Given the description of an element on the screen output the (x, y) to click on. 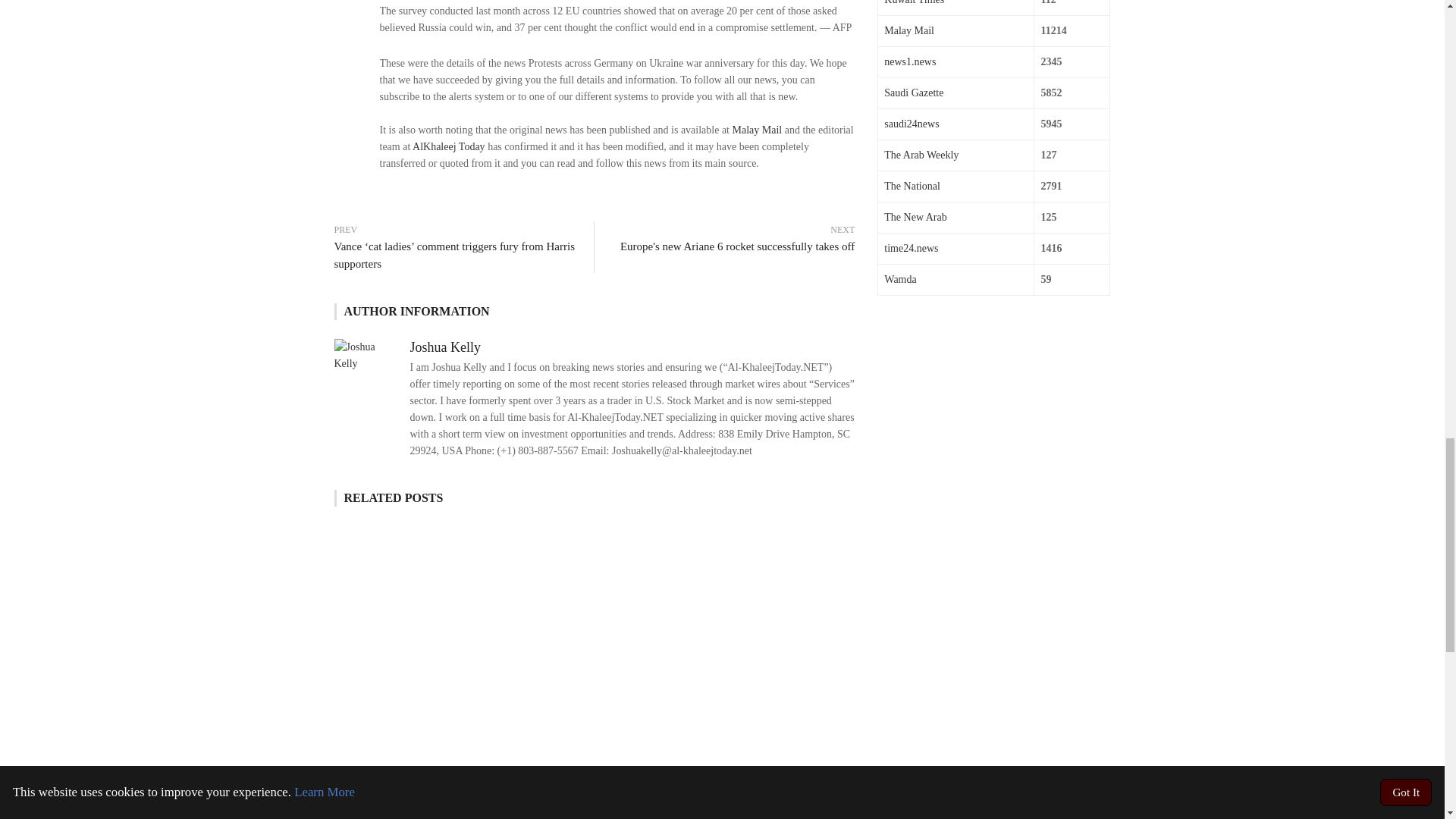
Malay Mail (757, 129)
AlKhaleej Today (448, 146)
Europe's new Ariane 6 rocket successfully takes off (732, 246)
Joshua Kelly (444, 347)
